Given the description of an element on the screen output the (x, y) to click on. 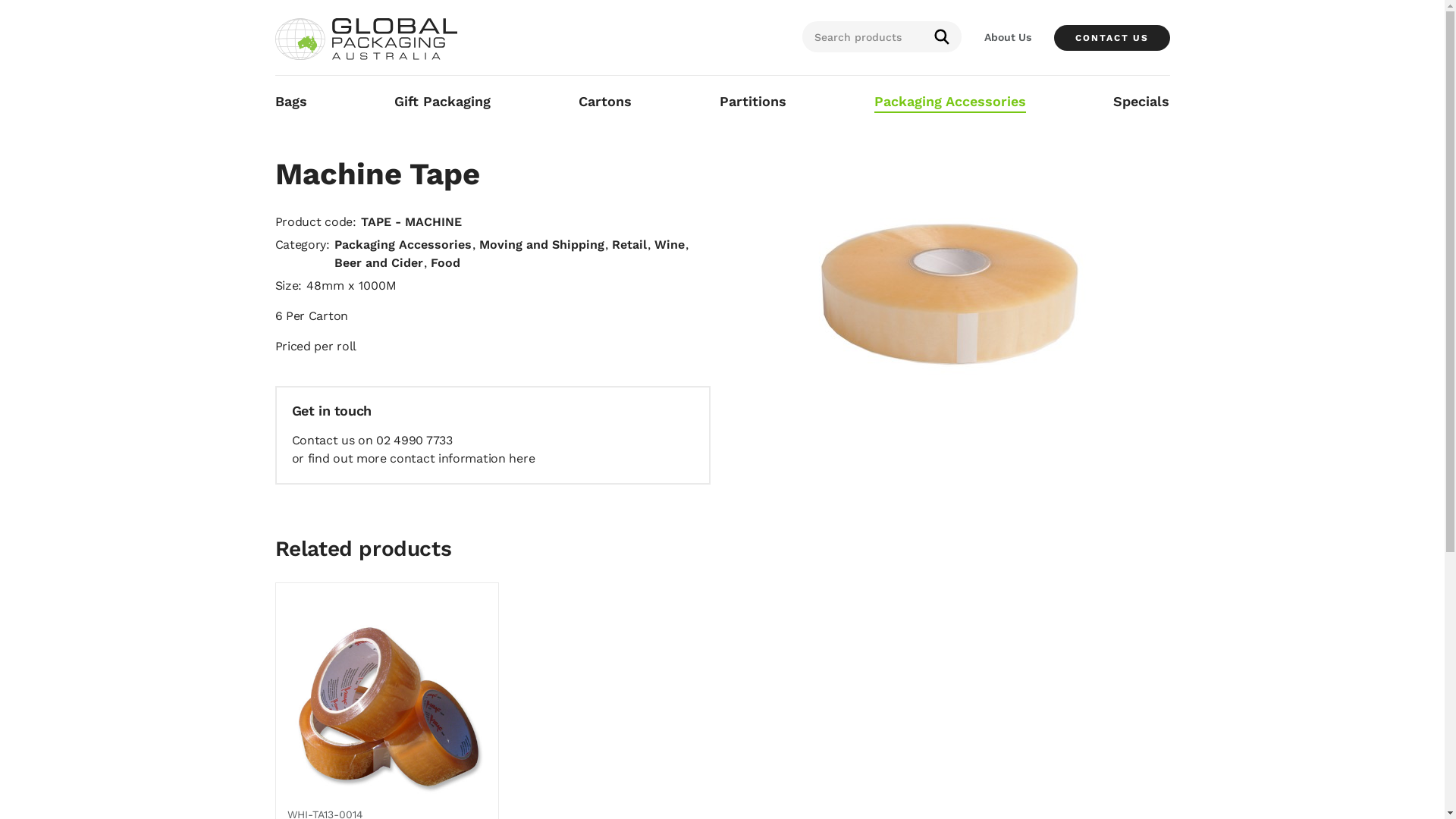
Search Element type: text (941, 36)
About Us Element type: text (1007, 37)
Packaging Accessories Element type: text (402, 244)
Wine Element type: text (669, 244)
Gift Packaging Element type: text (442, 101)
Retail Element type: text (628, 244)
Beer and Cider Element type: text (378, 262)
Packaging Accessories Element type: text (950, 101)
Food Element type: text (445, 262)
Cartons Element type: text (604, 101)
CONTACT US Element type: text (1112, 37)
Moving and Shipping Element type: text (541, 244)
Bags Element type: text (290, 101)
Specials Element type: text (1141, 101)
Partitions Element type: text (752, 101)
